Given the description of an element on the screen output the (x, y) to click on. 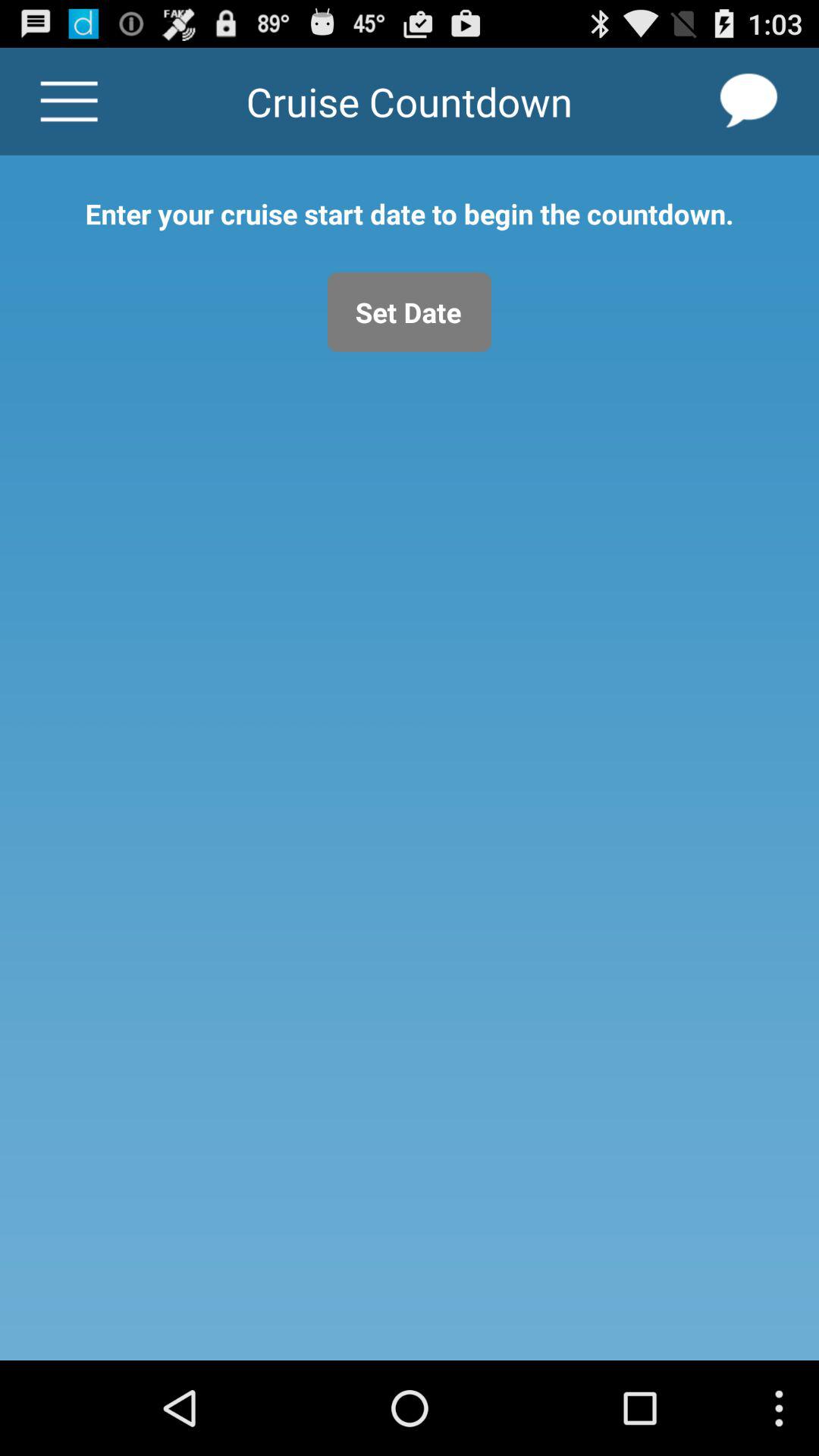
swipe to the set date (409, 312)
